Given the description of an element on the screen output the (x, y) to click on. 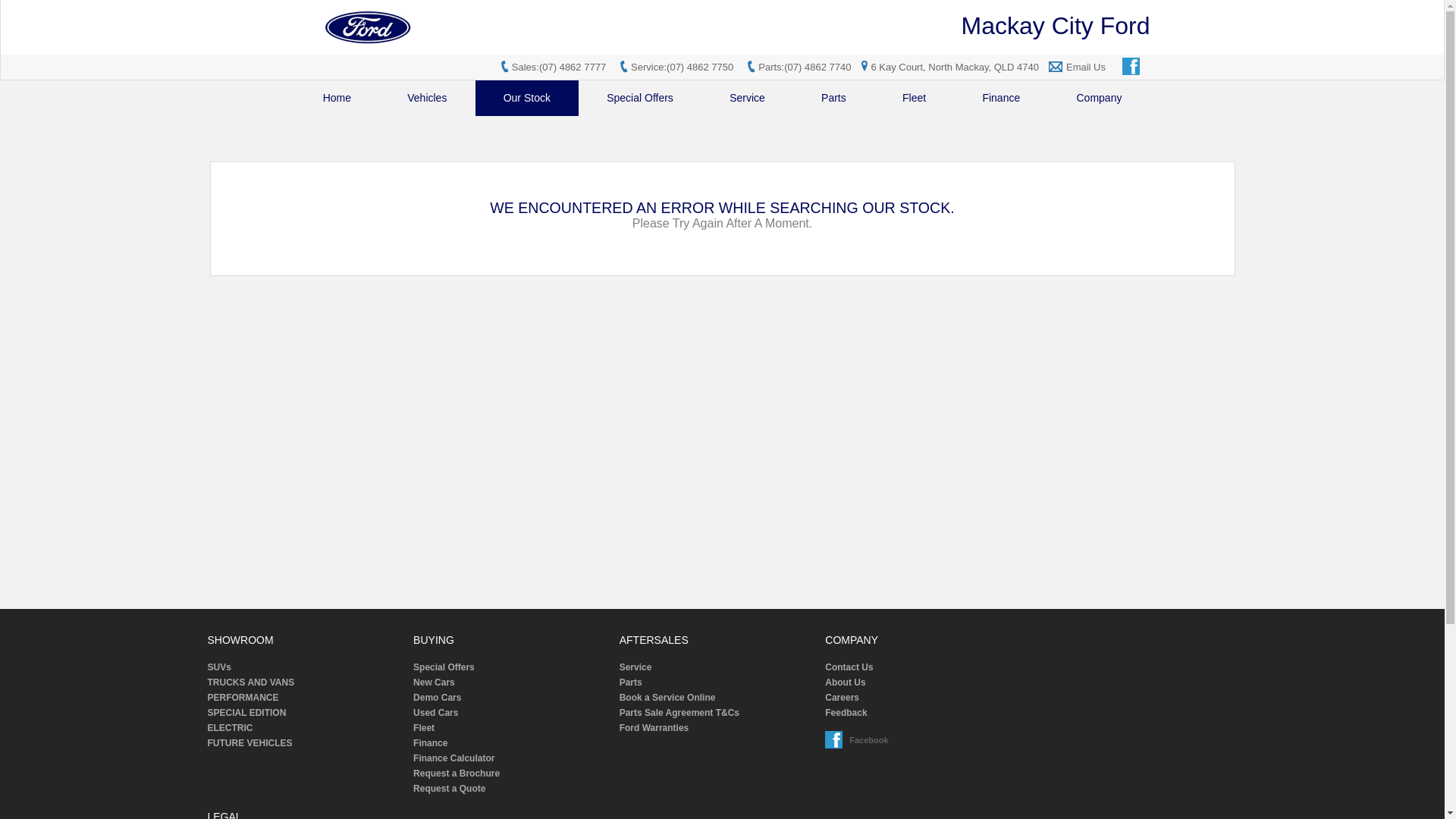
Demo Cars Element type: text (510, 697)
Request a Quote Element type: text (510, 788)
SPECIAL EDITION Element type: text (305, 712)
Ford Warranties Element type: text (717, 727)
ELECTRIC Element type: text (305, 727)
Service Element type: text (747, 98)
Finance Calculator Element type: text (510, 757)
SUVs Element type: text (305, 666)
Careers Element type: text (922, 697)
Home Element type: text (336, 98)
Our Stock Element type: text (527, 98)
Parts Element type: text (833, 98)
Sales:(07) 4862 7777 Element type: text (558, 66)
Finance Element type: text (510, 742)
Special Offers Element type: text (510, 666)
Contact Us Element type: text (922, 666)
Vehicles Element type: text (426, 98)
Used Cars Element type: text (510, 712)
Special Offers Element type: text (639, 98)
PERFORMANCE Element type: text (305, 697)
About Us Element type: text (922, 682)
FUTURE VEHICLES Element type: text (305, 742)
Service:(07) 4862 7750 Element type: text (681, 66)
6 Kay Court, North Mackay, QLD 4740 Element type: text (947, 66)
Company Element type: text (1098, 98)
New Cars Element type: text (510, 682)
Parts:(07) 4862 7740 Element type: text (804, 66)
Book a Service Online Element type: text (717, 697)
Finance Element type: text (1000, 98)
Request a Brochure Element type: text (510, 773)
Fleet Element type: text (913, 98)
Fleet Element type: text (510, 727)
Parts Element type: text (717, 682)
TRUCKS AND VANS Element type: text (305, 682)
Facebook Element type: text (1132, 66)
Email Us Element type: text (1085, 66)
Service Element type: text (717, 666)
Feedback Element type: text (922, 712)
Parts Sale Agreement T&Cs Element type: text (717, 712)
Facebook Element type: text (834, 740)
